Given the description of an element on the screen output the (x, y) to click on. 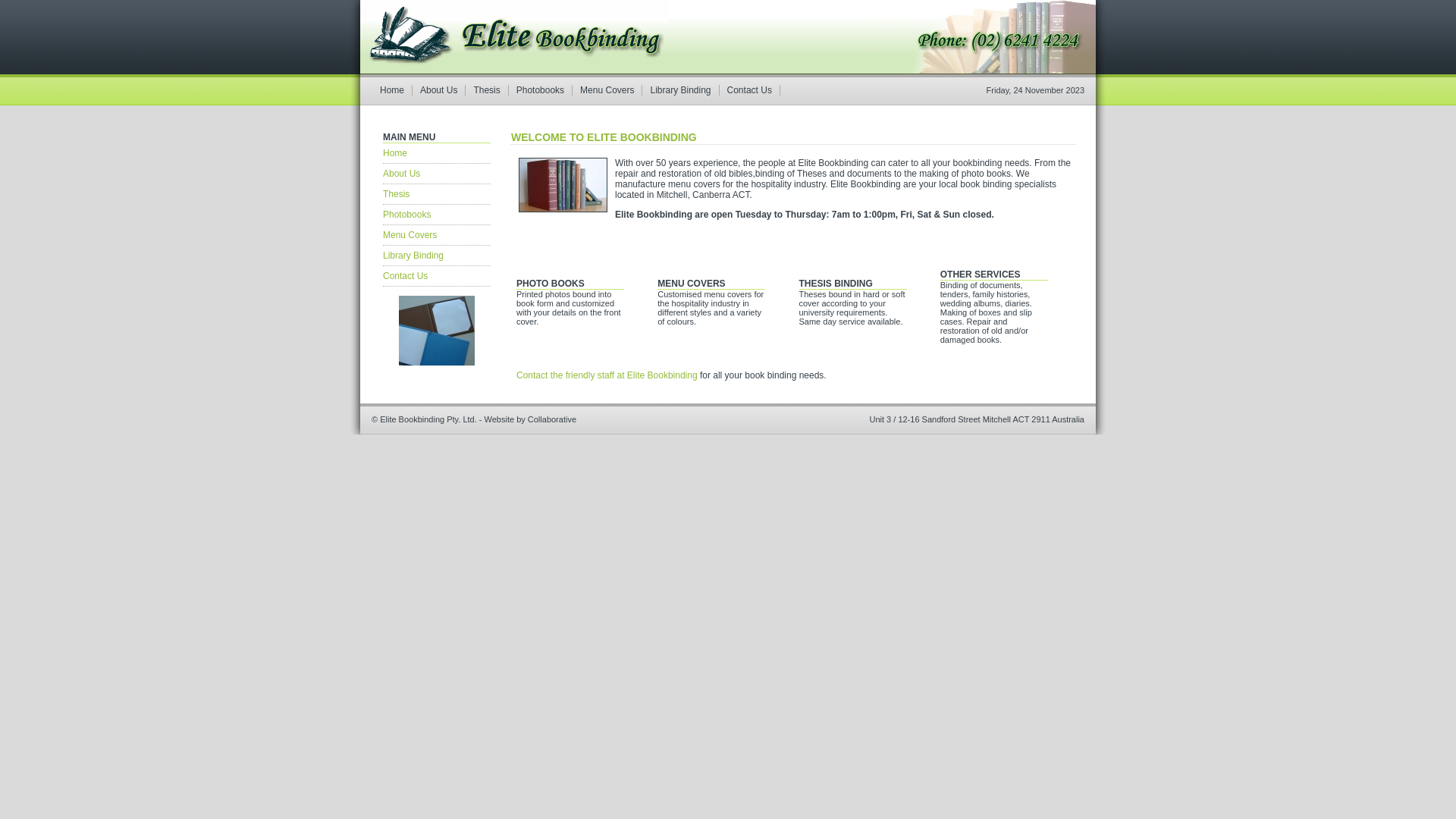
About Us Element type: text (436, 173)
Collaborative Element type: text (551, 418)
Contact Us Element type: text (749, 89)
Menu Covers Element type: text (436, 235)
Thesis Element type: text (486, 89)
Library Binding Element type: text (680, 89)
Contact the friendly staff at Elite Bookbinding Element type: text (606, 375)
Thesis Element type: text (436, 194)
About Us Element type: text (438, 89)
Photobooks Element type: text (540, 89)
Contact Us Element type: text (436, 276)
Library Binding Element type: text (436, 255)
Home Element type: text (392, 89)
Menu Covers Element type: text (607, 89)
Home Element type: text (436, 153)
Photobooks Element type: text (436, 214)
